Given the description of an element on the screen output the (x, y) to click on. 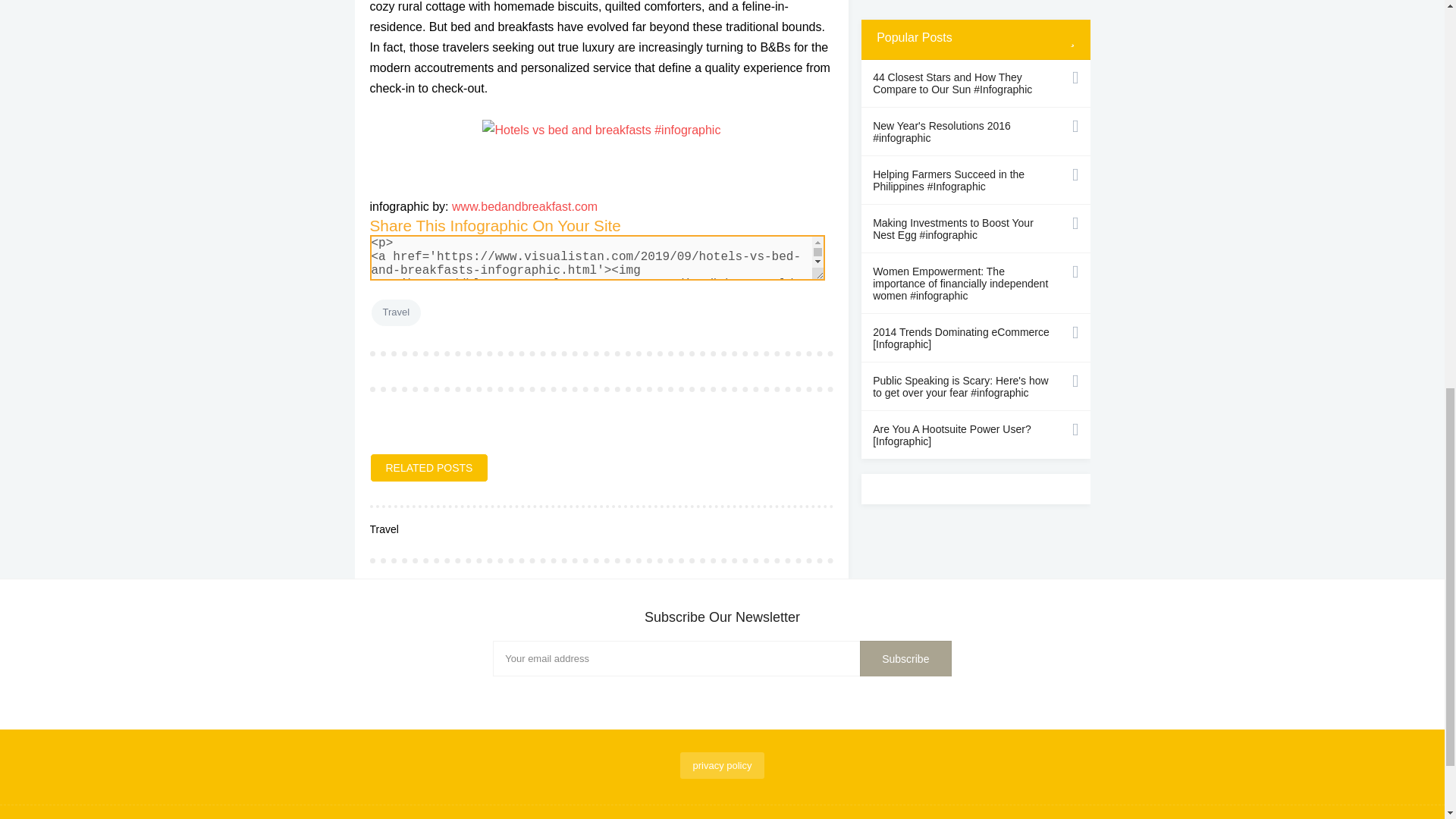
Subscribe (906, 658)
www.bedandbreakfast.com (523, 205)
Email (722, 658)
Travel (396, 312)
